Given the description of an element on the screen output the (x, y) to click on. 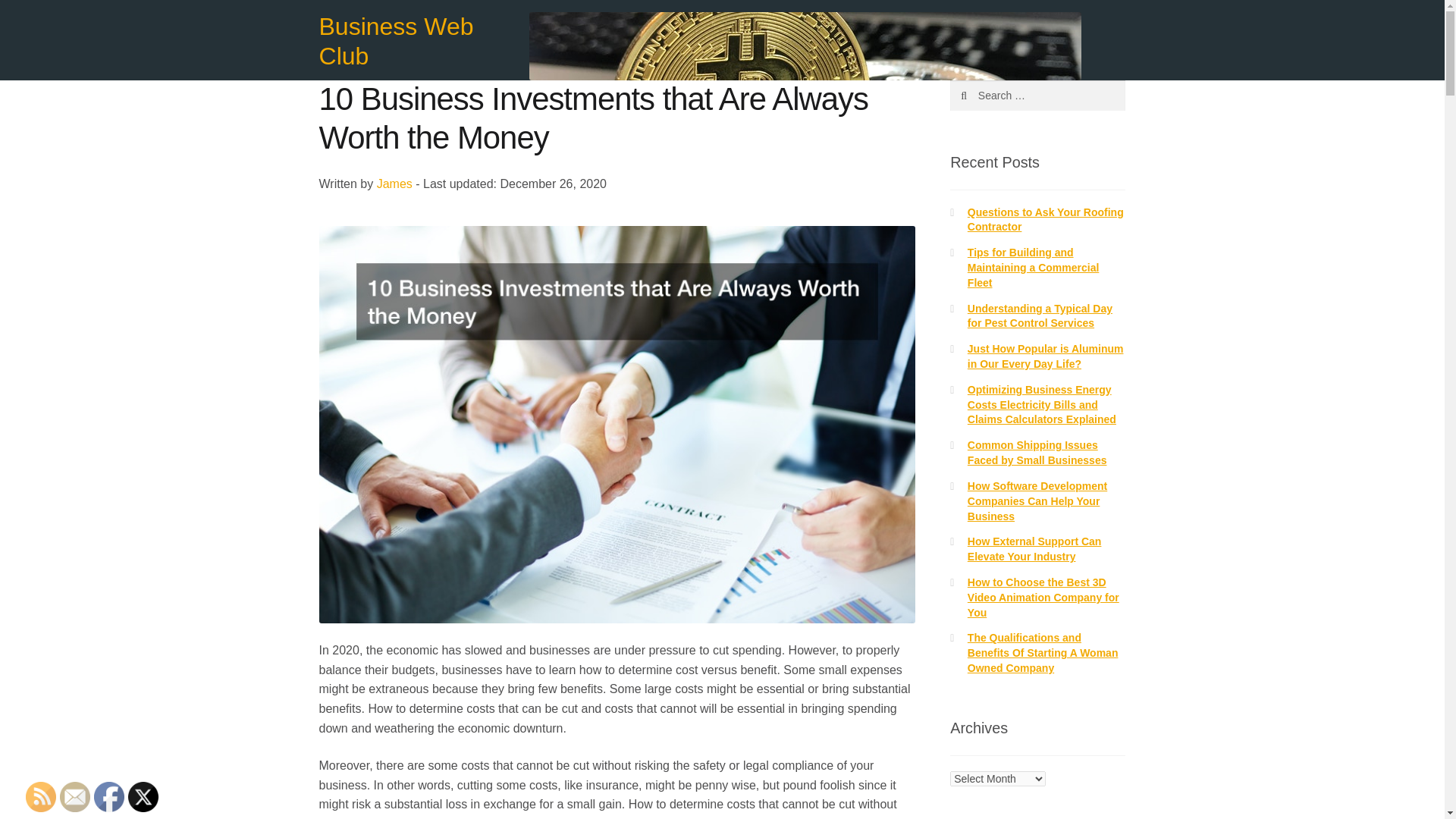
Questions to Ask Your Roofing Contractor (1046, 219)
Common Shipping Issues Faced by Small Businesses (1037, 452)
Business Web Club (396, 41)
Just How Popular is Aluminum in Our Every Day Life? (1046, 356)
How Software Development Companies Can Help Your Business (1037, 500)
How to Choose the Best 3D Video Animation Company for You (1043, 597)
James (394, 183)
Understanding a Typical Day for Pest Control Services (1040, 316)
Facebook (108, 797)
Search (982, 95)
